Given the description of an element on the screen output the (x, y) to click on. 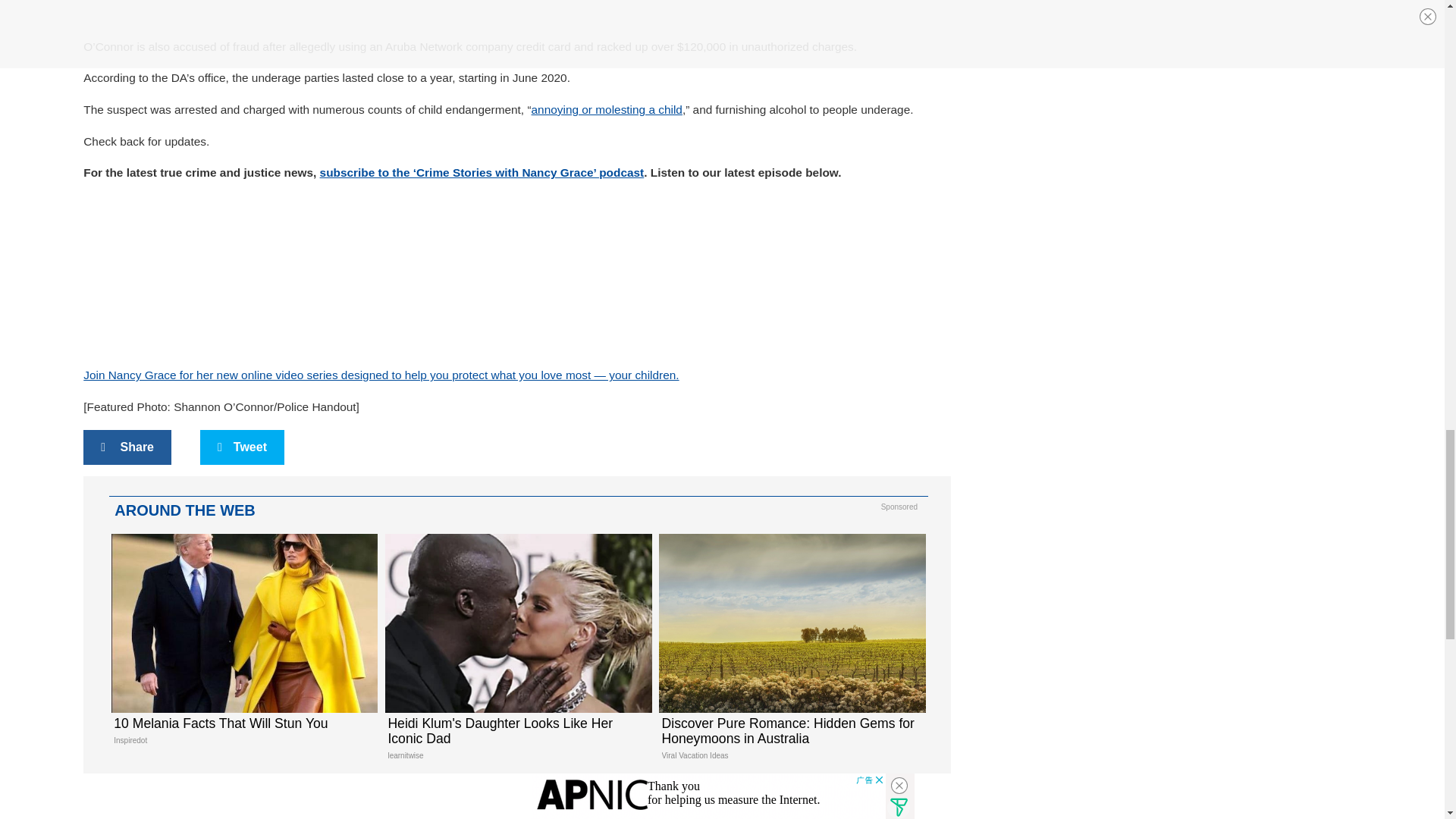
Nine Kinds of Ancestors You Could Find on Your Family Tree (515, 797)
Heidi Klum's Daughter Looks Like Her Iconic Dad (515, 652)
The 50 Most Romantic Hotels in the World 2022 (242, 797)
10 Melania Facts That Will Stun You (242, 644)
Is My Space a Good Fit for Airbnb? (791, 797)
annoying or molesting a child (606, 109)
Tweet (241, 447)
Share (242, 644)
